Given the description of an element on the screen output the (x, y) to click on. 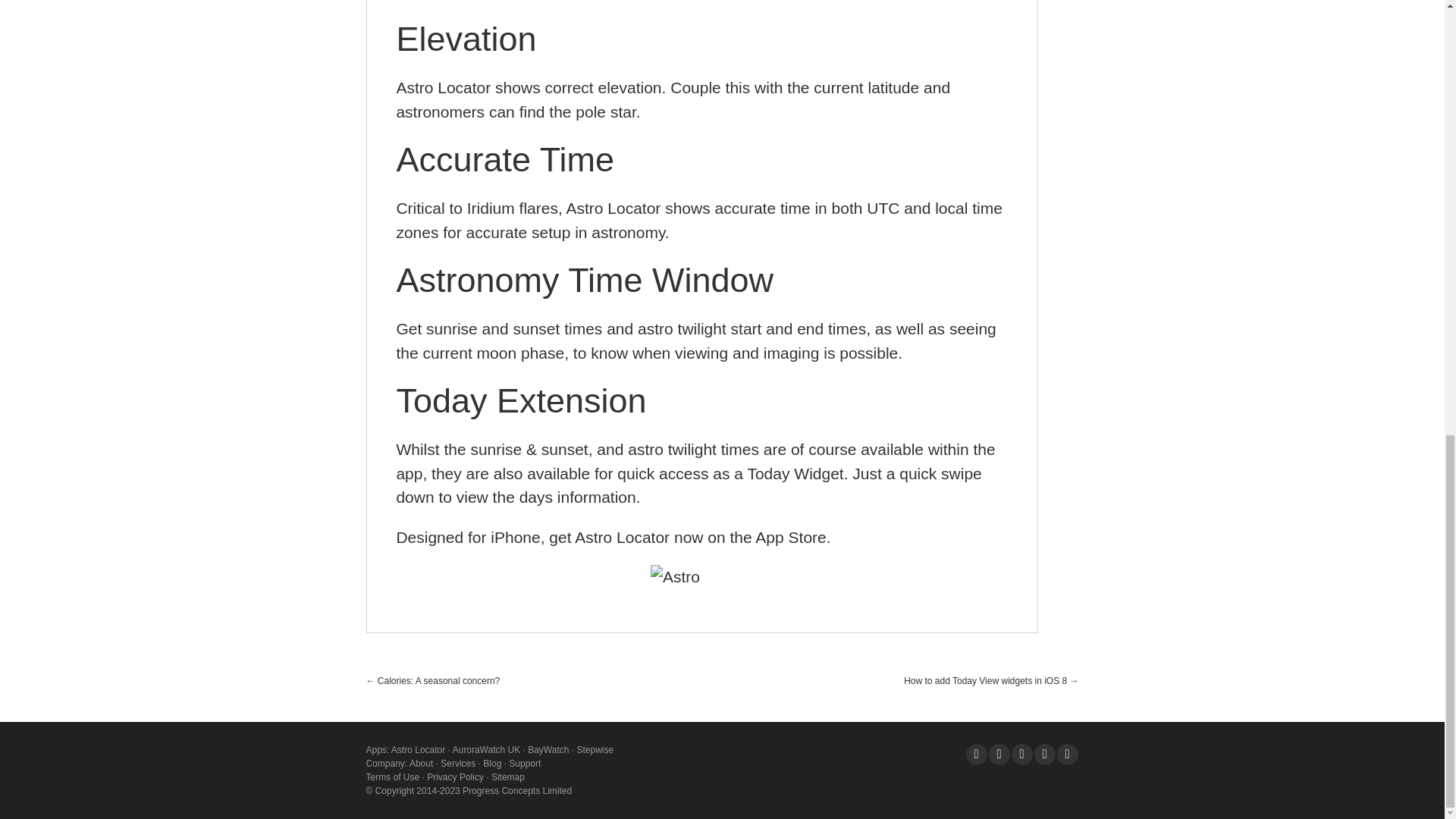
Services (458, 763)
About (420, 763)
Astro Locator (418, 749)
Progress Concepts Limited (517, 790)
Support (524, 763)
Privacy Policy (454, 777)
rss (1043, 748)
BayWatch (548, 749)
skype (998, 748)
Stepwise (594, 749)
